Given the description of an element on the screen output the (x, y) to click on. 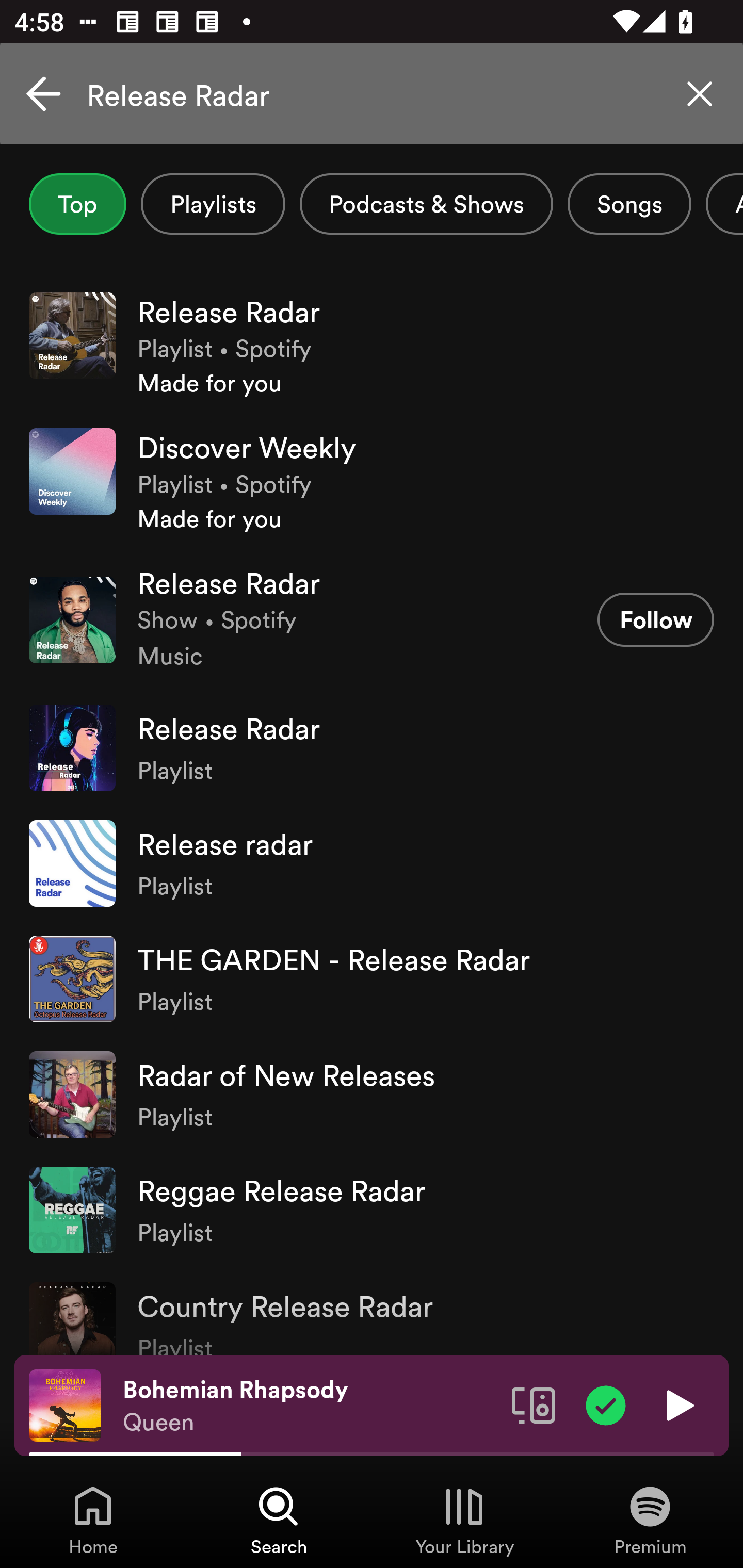
Release Radar (371, 93)
Cancel (43, 93)
Clear search query (699, 93)
Top (77, 203)
Playlists (213, 203)
Podcasts & Shows (425, 203)
Songs (629, 203)
Release Radar Playlist • Spotify Made for you (371, 345)
Discover Weekly Playlist • Spotify Made for you (371, 480)
Release Radar Show • Spotify  Music Follow Follow (371, 618)
Follow (655, 619)
Release Radar Playlist (371, 747)
Release radar  Playlist (371, 863)
THE GARDEN - Release Radar Playlist (371, 978)
Radar of New Releases Playlist (371, 1094)
Reggae Release Radar Playlist (371, 1210)
Country Release Radar Playlist (371, 1311)
Bohemian Rhapsody Queen (309, 1405)
The cover art of the currently playing track (64, 1404)
Connect to a device. Opens the devices menu (533, 1404)
Item added (605, 1404)
Play (677, 1404)
Home, Tab 1 of 4 Home Home (92, 1519)
Search, Tab 2 of 4 Search Search (278, 1519)
Your Library, Tab 3 of 4 Your Library Your Library (464, 1519)
Premium, Tab 4 of 4 Premium Premium (650, 1519)
